Given the description of an element on the screen output the (x, y) to click on. 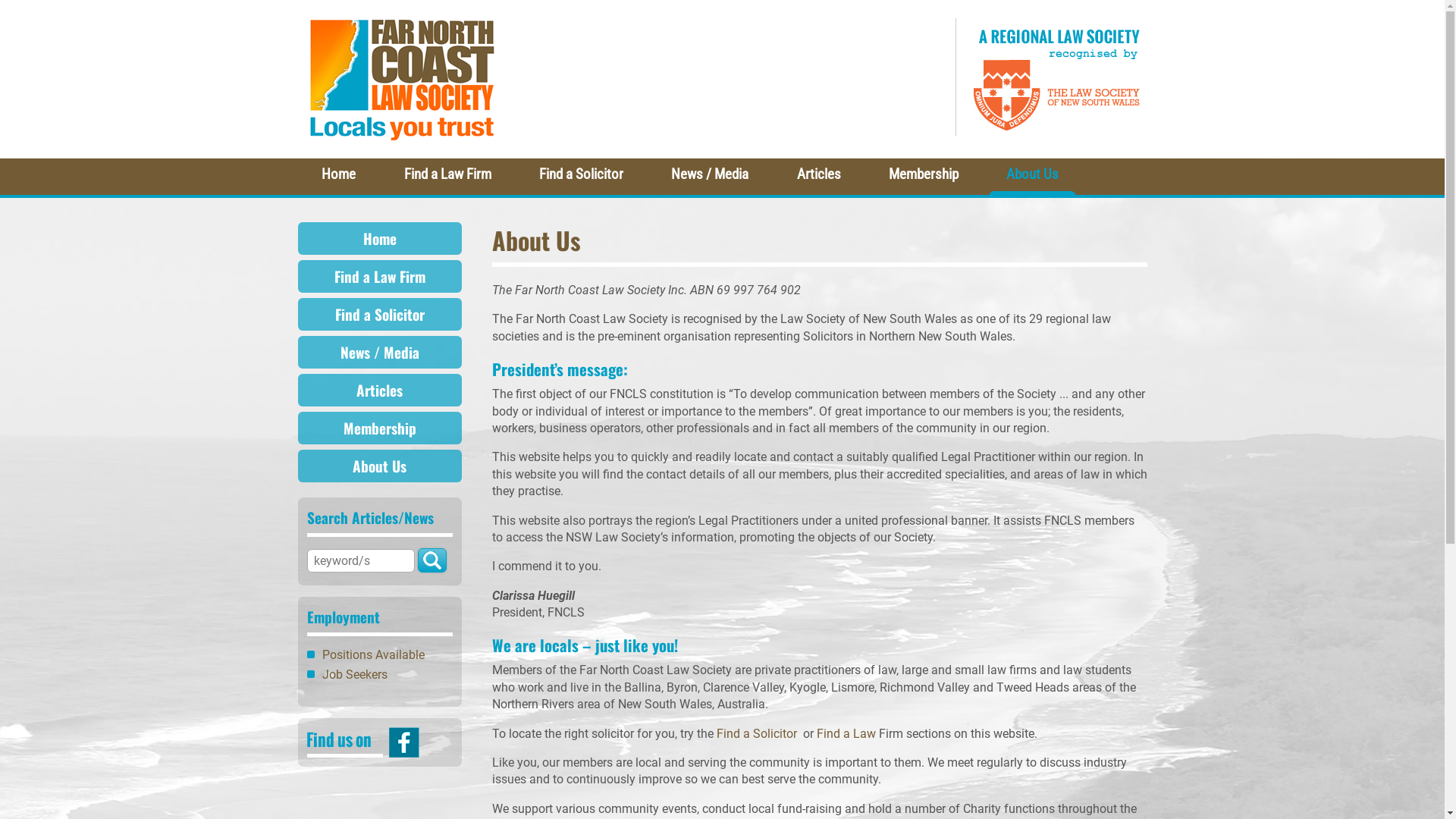
Articles Element type: text (818, 176)
About Us Element type: text (1032, 176)
Find a Solicitor Element type: text (580, 176)
Find a Law Element type: text (845, 733)
Membership Element type: text (379, 427)
Articles Element type: text (379, 389)
Membership Element type: text (923, 176)
Find a Solicitor Element type: text (379, 314)
News / Media Element type: text (379, 351)
Find a Law Firm Element type: text (379, 276)
About Us Element type: text (379, 465)
Positions Available Element type: text (372, 654)
Find a Solicitor Element type: text (755, 733)
Home Element type: text (379, 238)
Find a Law Firm Element type: text (446, 176)
News / Media Element type: text (709, 176)
Home Element type: text (338, 176)
Job Seekers Element type: text (353, 674)
